Given the description of an element on the screen output the (x, y) to click on. 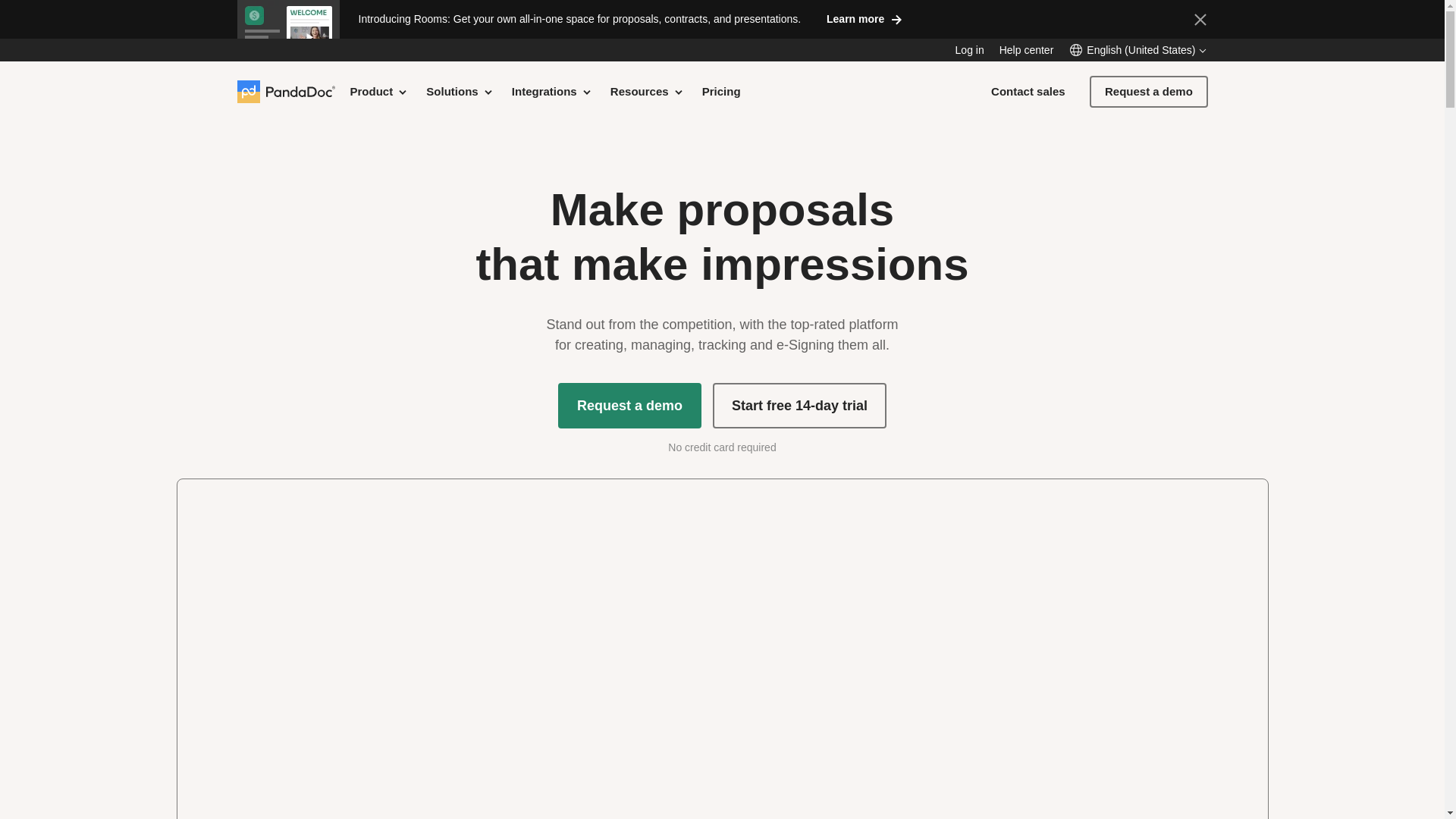
Help center (1026, 50)
Solutions (459, 91)
Log in (969, 50)
Product (379, 91)
Learn more (863, 18)
